Given the description of an element on the screen output the (x, y) to click on. 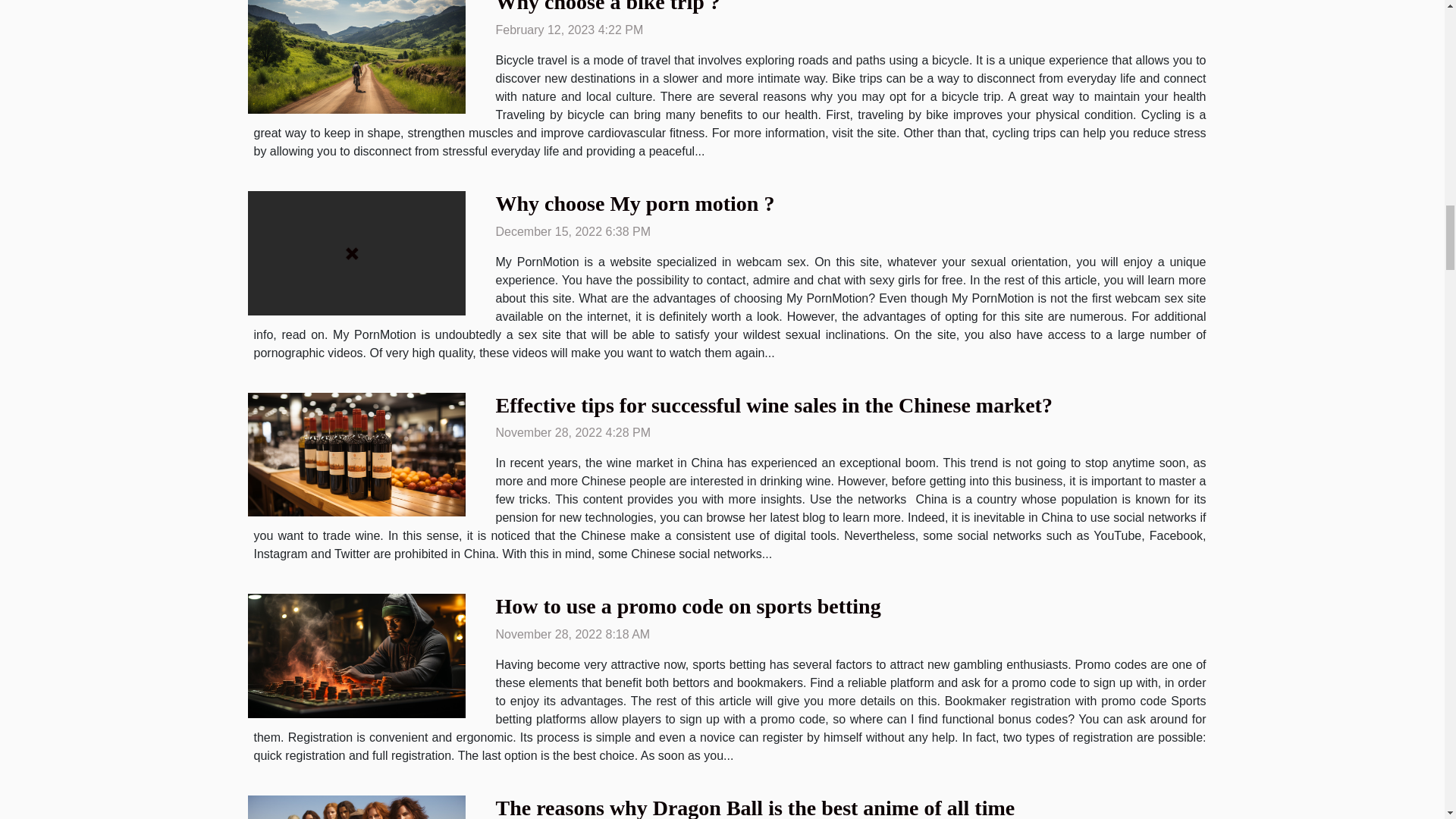
Why choose a bike trip ? (608, 6)
Why choose My porn motion ? (635, 203)
